Given the description of an element on the screen output the (x, y) to click on. 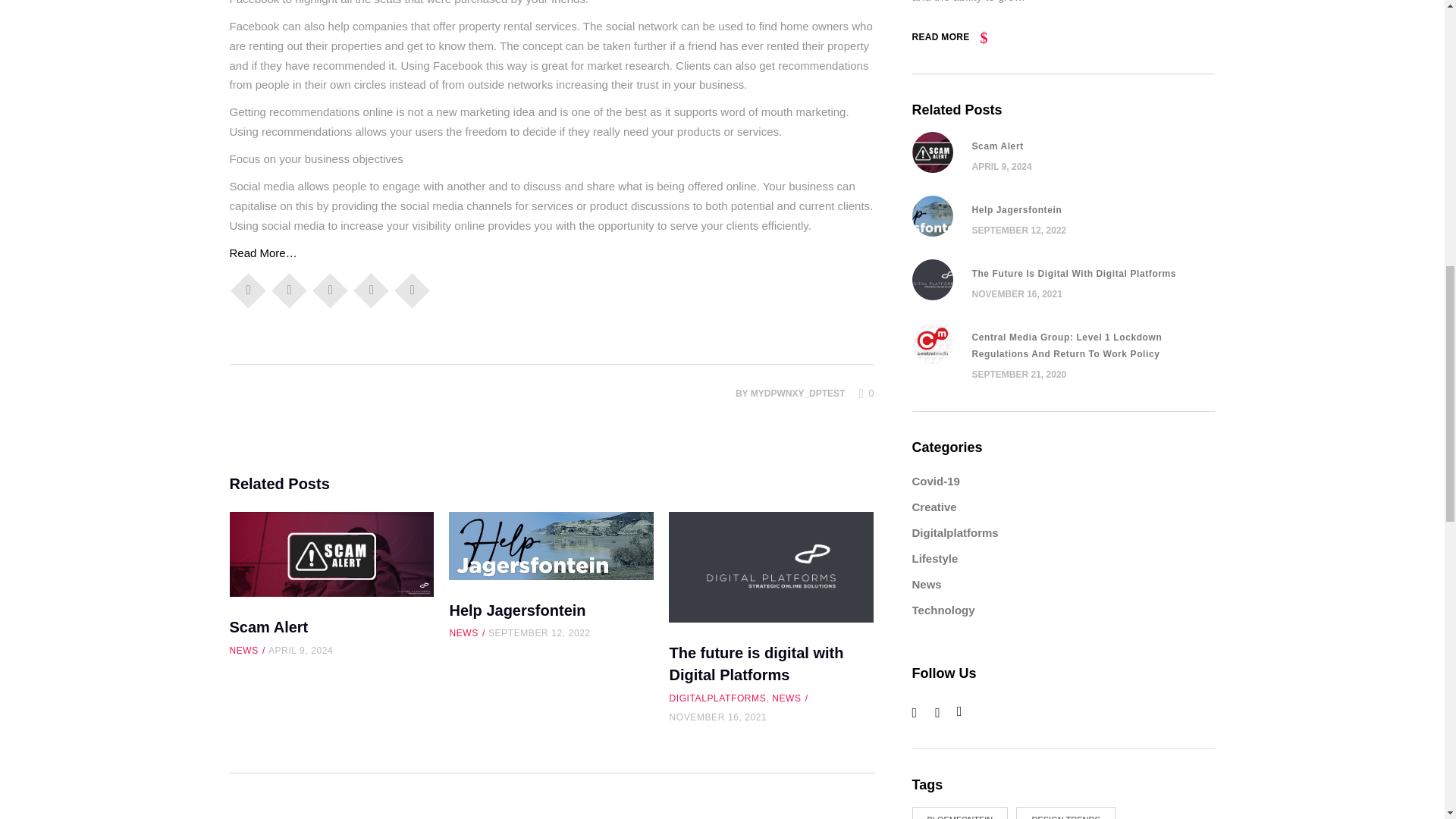
Scam Alert (267, 627)
Share on Facebook (247, 289)
Print (412, 289)
Share on Twitter (289, 289)
The future is digital with Digital Platforms (770, 566)
Facebook Business Goals (262, 252)
Share on LinkedIn (330, 289)
Share it on Email (371, 289)
Scam Alert (330, 554)
The future is digital with Digital Platforms (755, 663)
Help Jagersfontein (516, 610)
Help Jagersfontein (550, 545)
